Given the description of an element on the screen output the (x, y) to click on. 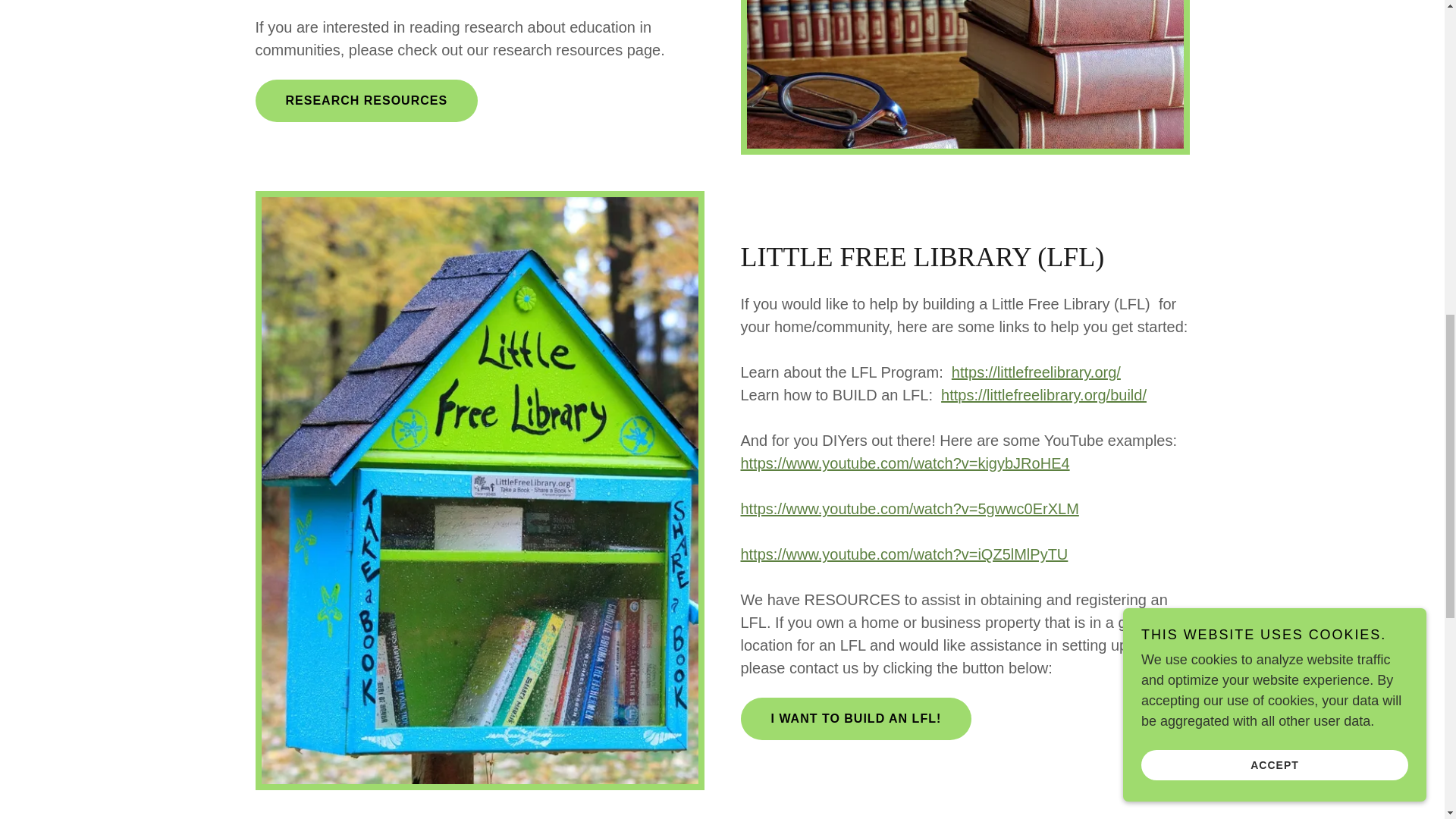
RESEARCH RESOURCES (365, 100)
I WANT TO BUILD AN LFL! (855, 718)
